Given the description of an element on the screen output the (x, y) to click on. 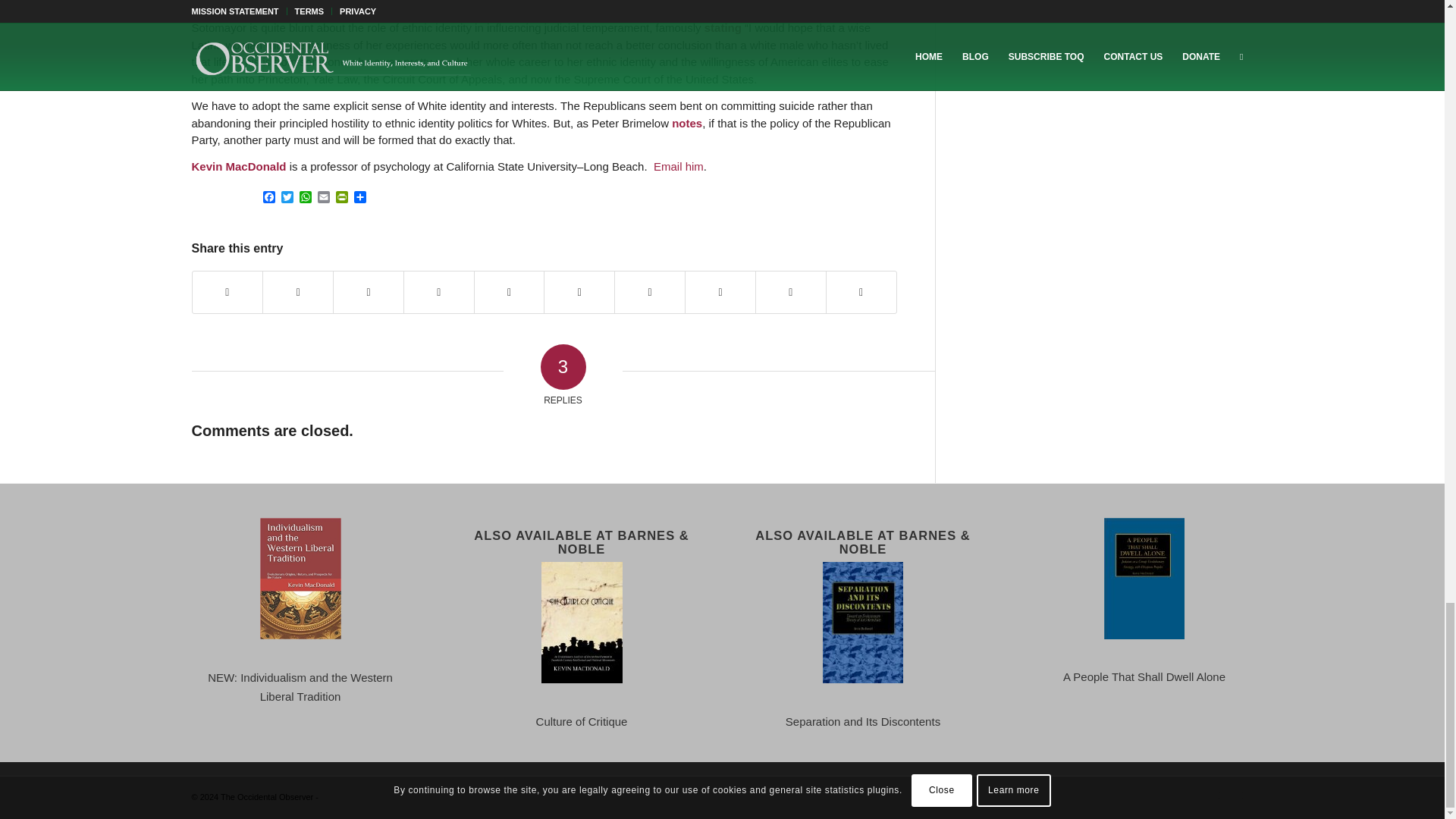
Email (322, 197)
Facebook (268, 197)
Twitter (286, 197)
PrintFriendly (340, 197)
WhatsApp (304, 197)
